Given the description of an element on the screen output the (x, y) to click on. 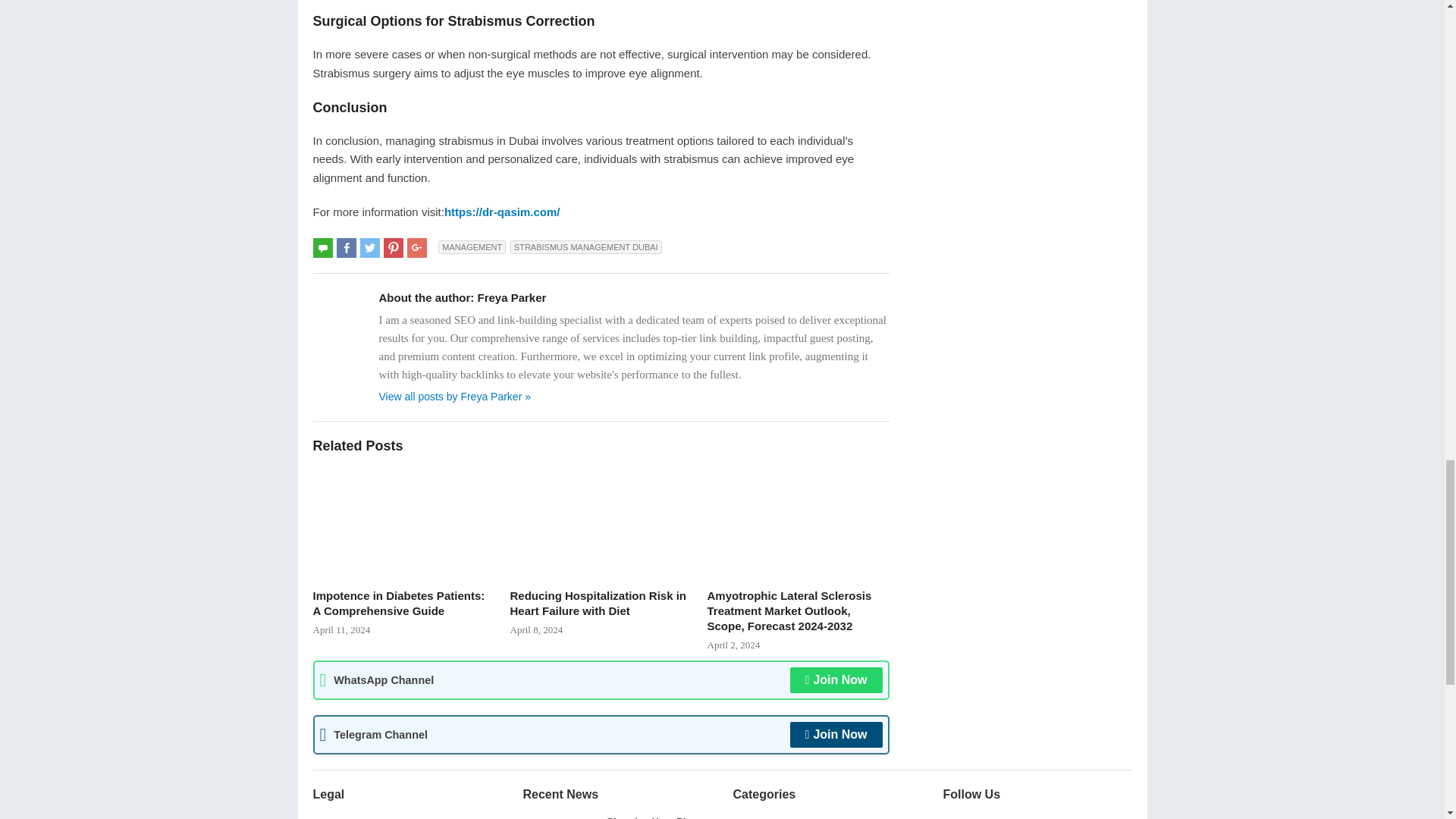
Share on Facebook (346, 247)
Share on Twitter (369, 247)
Reducing Hospitalization Risk in Heart Failure with Diet (600, 522)
Share on Pinterest (393, 247)
Impotence in Diabetes  Patients: A Comprehensive Guide (404, 522)
